Given the description of an element on the screen output the (x, y) to click on. 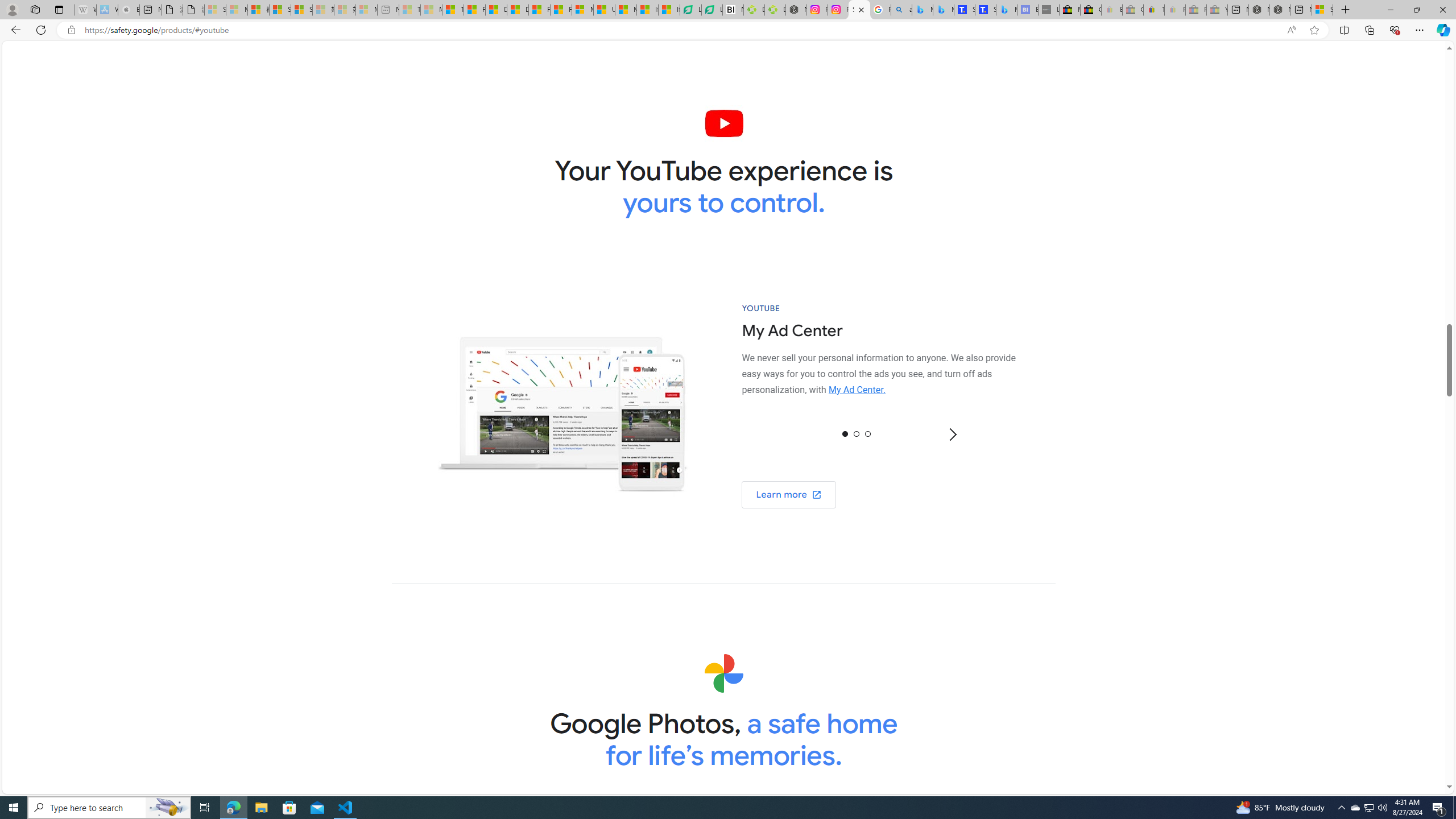
Yard, Garden & Outdoor Living - Sleeping (1216, 9)
Nordace - Nordace Edin Collection (795, 9)
Learn more about YouTube (789, 494)
Buy iPad - Apple - Sleeping (128, 9)
Sign in to your Microsoft account - Sleeping (215, 9)
Microsoft Services Agreement - Sleeping (236, 9)
Nvidia va a poner a prueba la paciencia de los inversores (732, 9)
Food and Drink - MSN (474, 9)
